Given the description of an element on the screen output the (x, y) to click on. 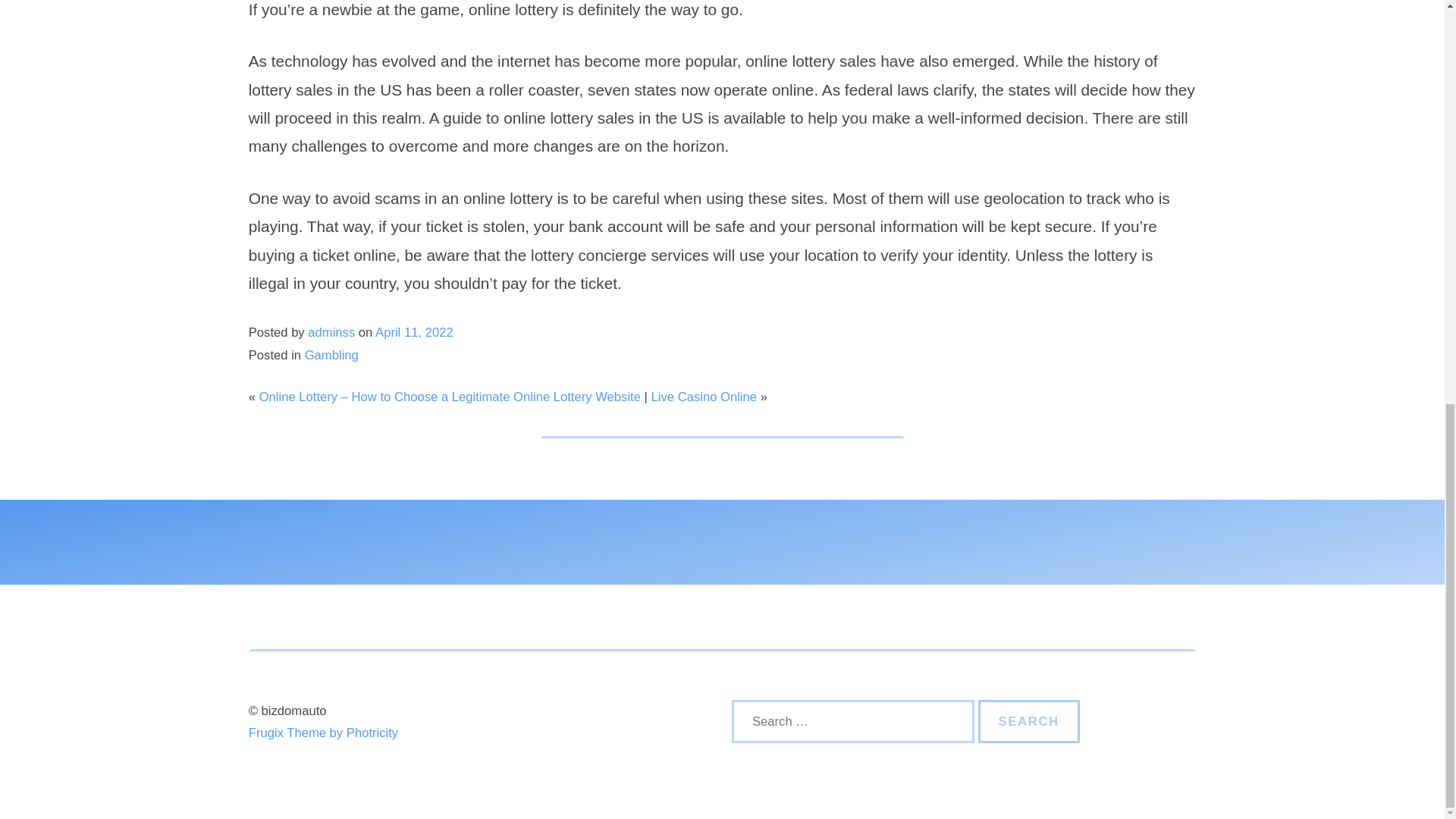
Search (1029, 721)
Frugix Theme by Photricity (322, 732)
Live Casino Online (703, 396)
Gambling (331, 355)
Search (1029, 721)
adminss (331, 332)
April 11, 2022 (413, 332)
Search (1029, 721)
